Given the description of an element on the screen output the (x, y) to click on. 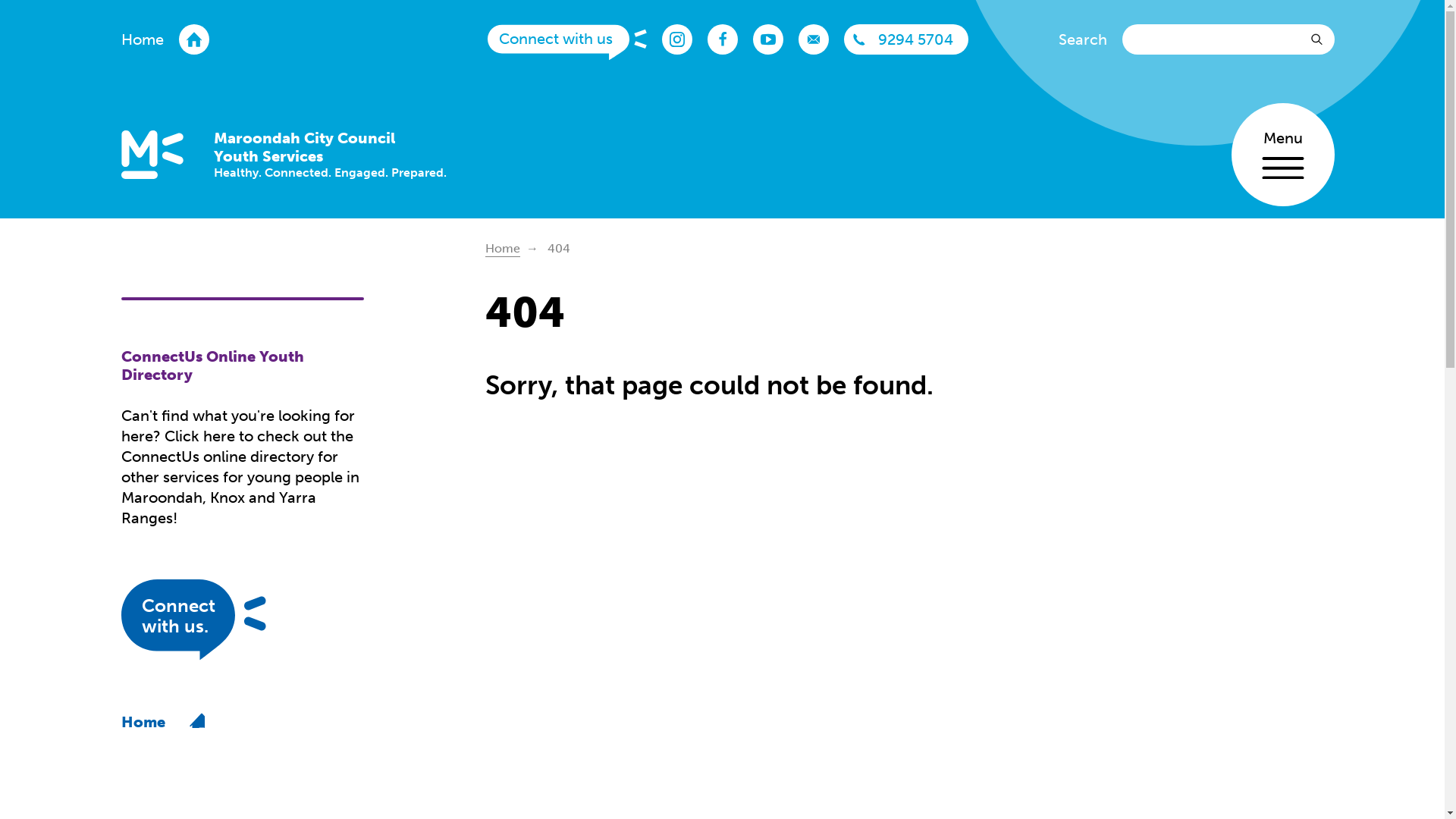
Menu Element type: text (1282, 154)
Connect with us Element type: text (566, 43)
  Element type: text (1319, 39)
Home Element type: text (162, 722)
Connect
with us. Element type: text (219, 621)
   9294 5704   Element type: text (906, 39)
Home Element type: text (165, 39)
Home Element type: text (502, 249)
